Given the description of an element on the screen output the (x, y) to click on. 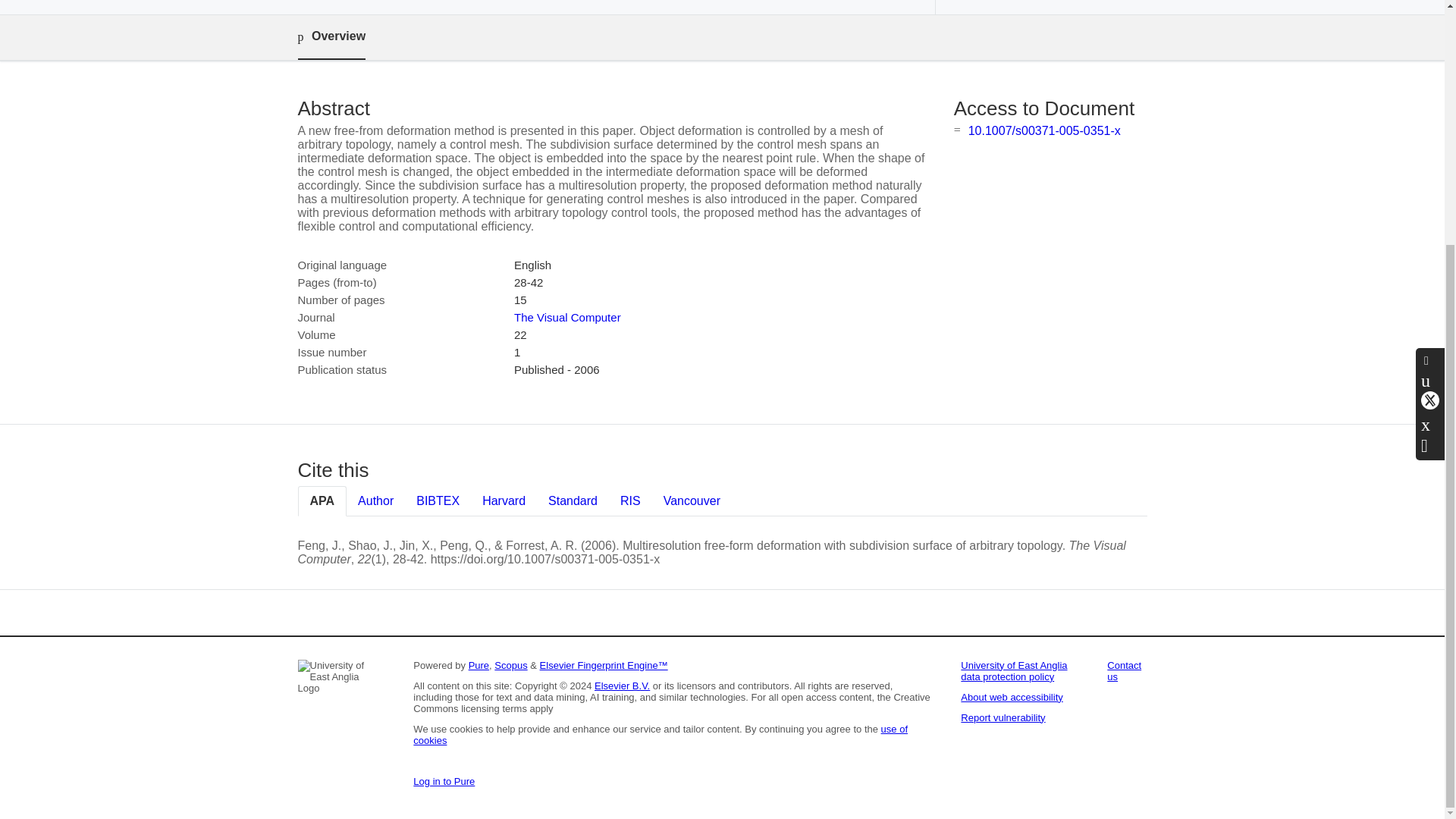
Log in to Pure (443, 781)
Contact us (1123, 671)
Overview (331, 37)
Elsevier B.V. (621, 685)
Pure (478, 665)
About web accessibility (1011, 696)
use of cookies (660, 734)
University of East Anglia data protection policy (1013, 671)
The Visual Computer (567, 317)
Scopus (511, 665)
